Given the description of an element on the screen output the (x, y) to click on. 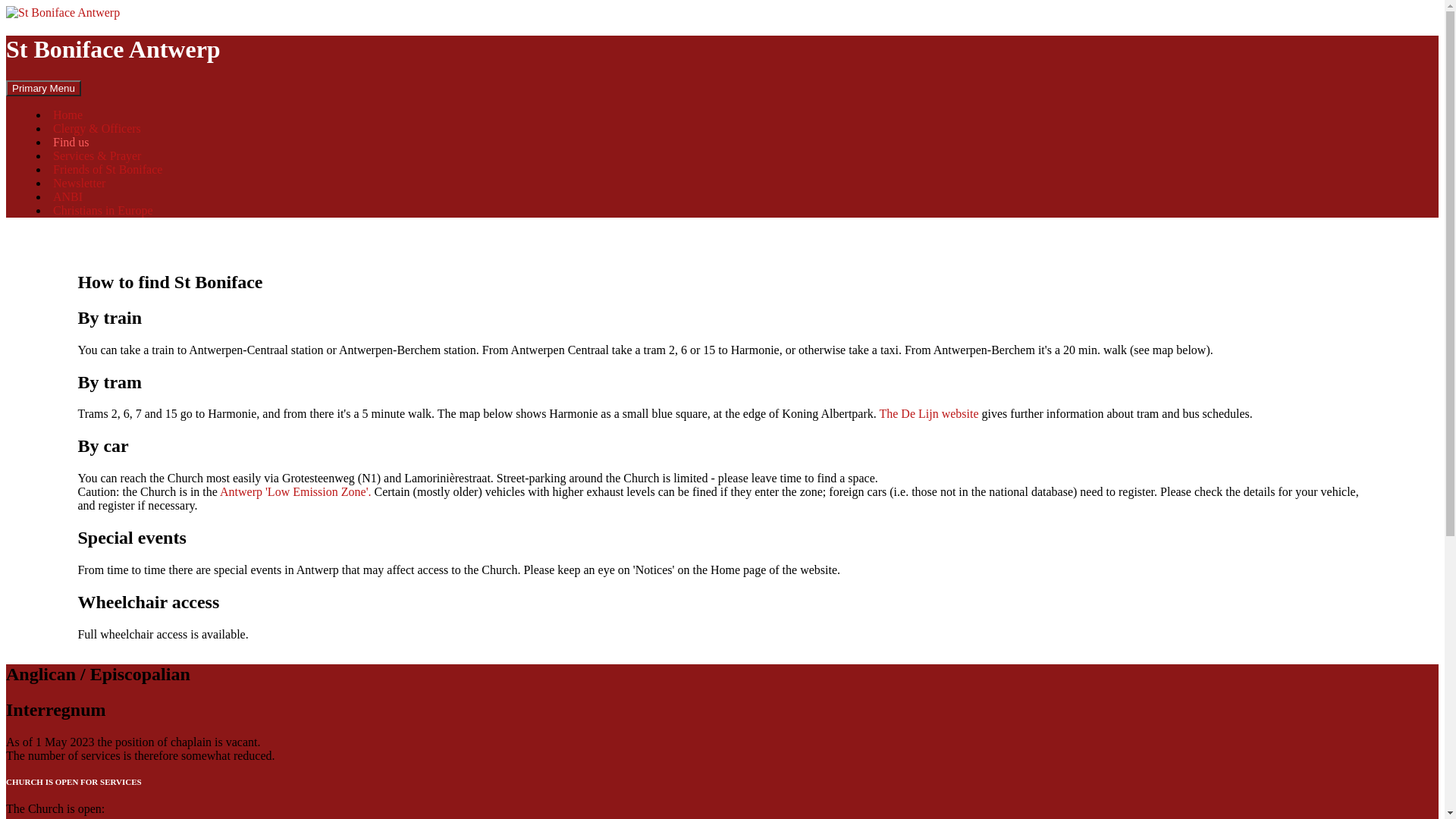
Skip to content Element type: text (80, 79)
St Boniface Antwerp Element type: text (113, 48)
Antwerp 'Low Emission Zone'. Element type: text (295, 491)
Home Element type: text (67, 114)
Clergy & Officers Element type: text (97, 128)
Find us Element type: text (71, 141)
Services & Prayer Element type: text (97, 155)
Friends of St Boniface Element type: text (107, 169)
Christians in Europe Element type: text (103, 209)
Primary Menu Element type: text (43, 88)
Newsletter Element type: text (79, 182)
The De Lijn website Element type: text (928, 413)
ANBI Element type: text (67, 196)
